Given the description of an element on the screen output the (x, y) to click on. 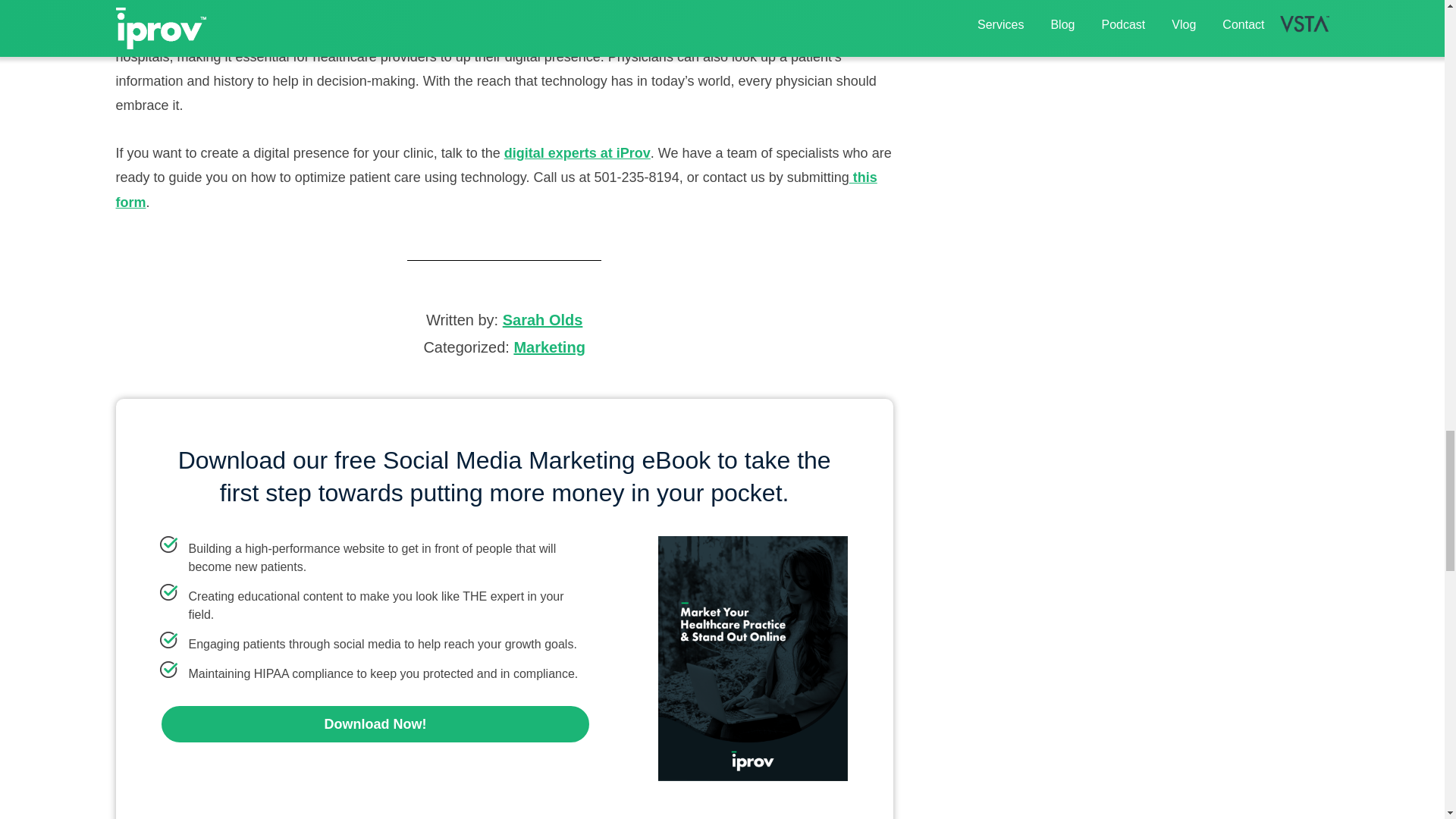
this form (495, 189)
digital experts at iProv (576, 152)
Sarah Olds (542, 320)
Download Now! (374, 723)
Marketing (549, 347)
